Given the description of an element on the screen output the (x, y) to click on. 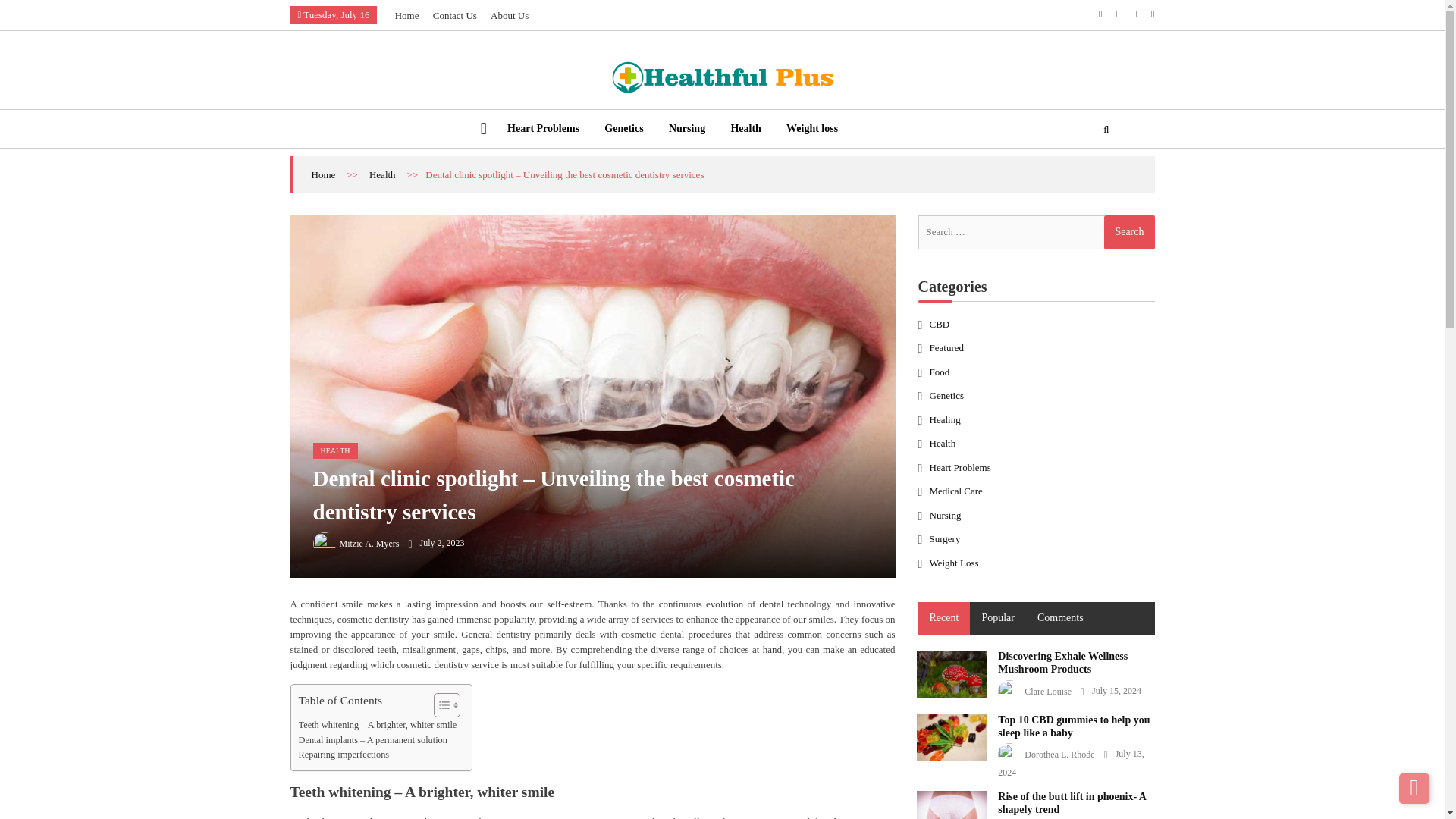
Top 10 CBD gummies to help you sleep like a baby (951, 737)
Genetics (623, 127)
About Us (509, 15)
Facebook (1100, 13)
Pinterest (1152, 13)
Weight loss (812, 127)
July 2, 2023 (435, 542)
Repairing imperfections (344, 754)
Twitter (1117, 13)
Health (382, 174)
Repairing imperfections (344, 754)
Home (406, 15)
Search (1128, 232)
Nursing (686, 127)
HEALTH (334, 450)
